Given the description of an element on the screen output the (x, y) to click on. 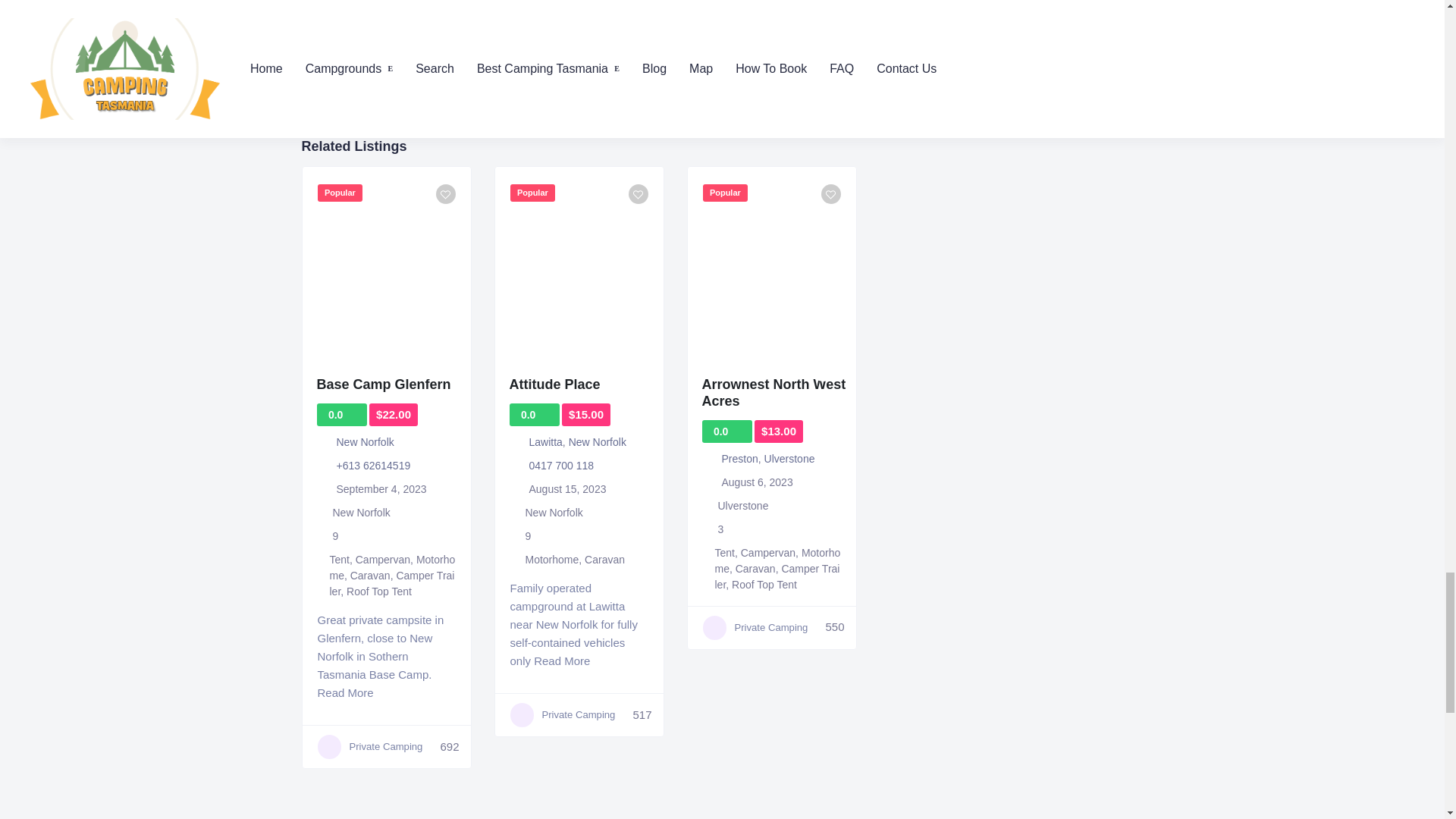
yes (329, 25)
